Given the description of an element on the screen output the (x, y) to click on. 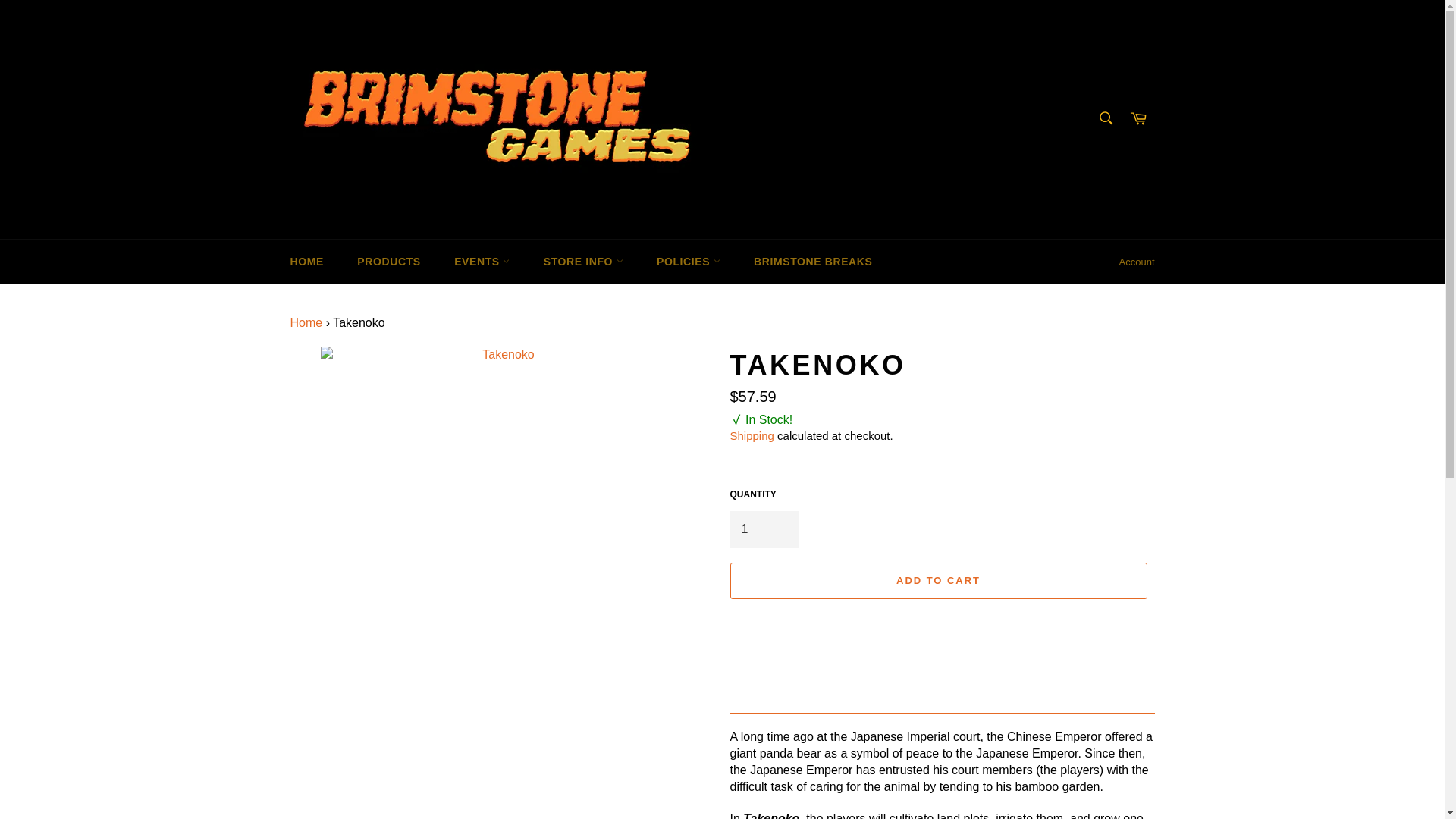
HOME (306, 261)
1 (763, 529)
POLICIES (688, 261)
BRIMSTONE BREAKS (812, 261)
EVENTS (481, 261)
PRODUCTS (388, 261)
STORE INFO (583, 261)
Home (305, 322)
Cart (1138, 119)
Account (1136, 262)
Search (1104, 118)
